Given the description of an element on the screen output the (x, y) to click on. 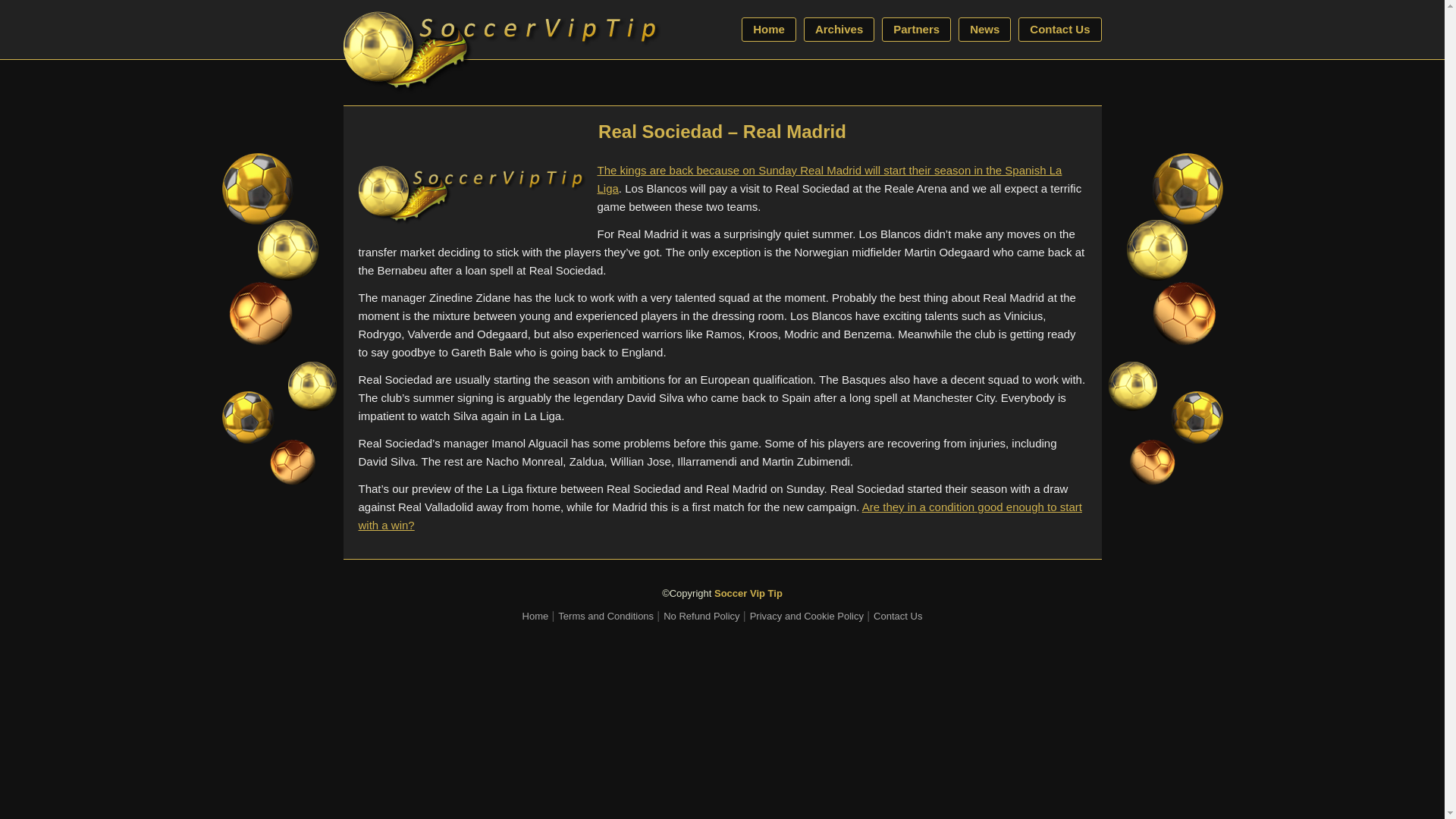
Archives (839, 29)
Home (768, 29)
Soccer Vip Tip (748, 593)
Partners (916, 29)
Contact Us (897, 615)
Contact Us (1058, 29)
Home (535, 615)
Are they in a condition good enough to start with a win? (719, 515)
No Refund Policy (701, 615)
News (984, 29)
Privacy and Cookie Policy (806, 615)
Soccer Vip Tip (748, 593)
Terms and Conditions (605, 615)
